Given the description of an element on the screen output the (x, y) to click on. 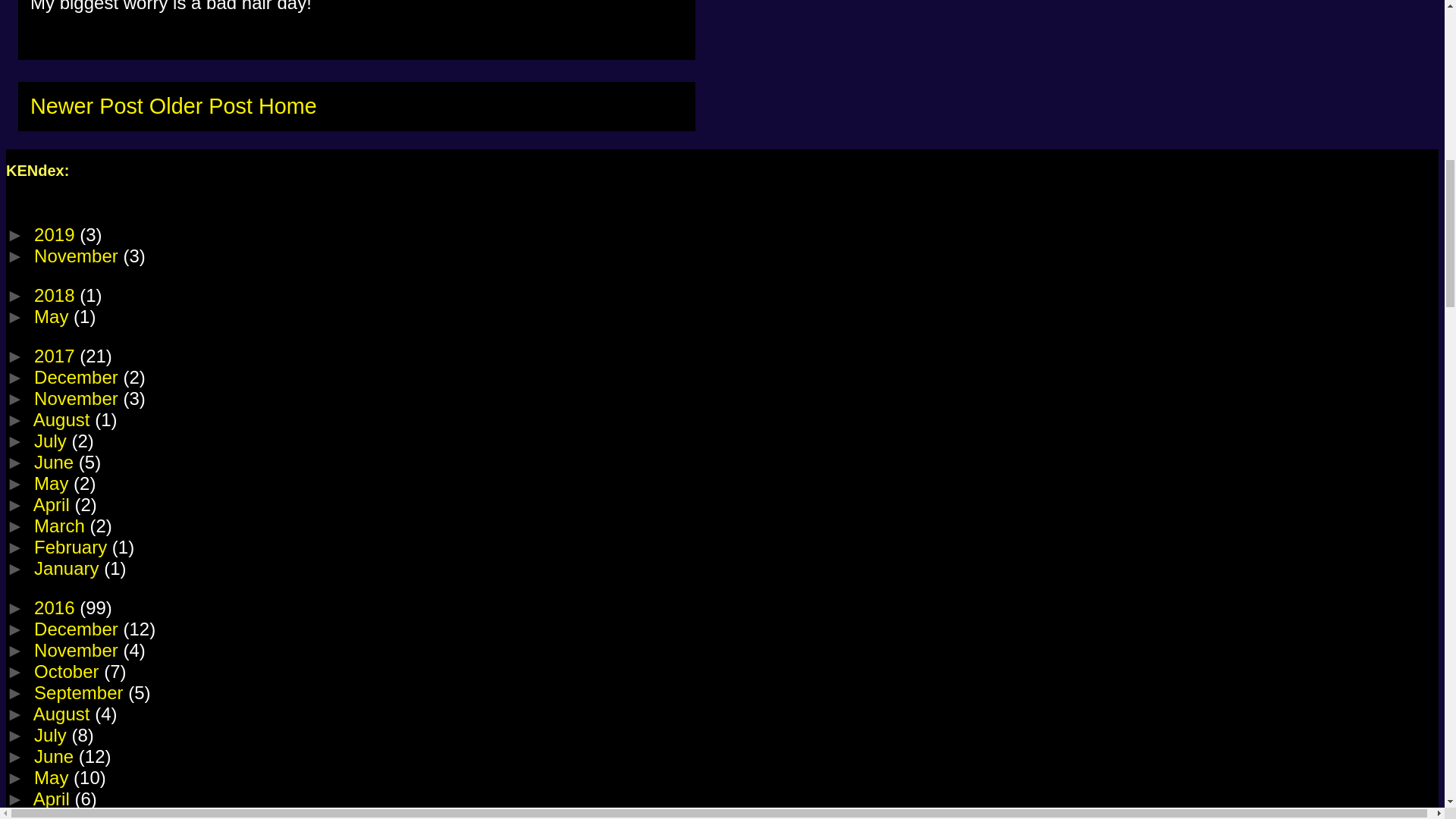
2019 (56, 234)
June (55, 462)
May (53, 483)
Older Post (200, 105)
2017 (56, 355)
November (77, 398)
Newer Post (86, 105)
August (63, 419)
January (68, 567)
2018 (56, 295)
